Given the description of an element on the screen output the (x, y) to click on. 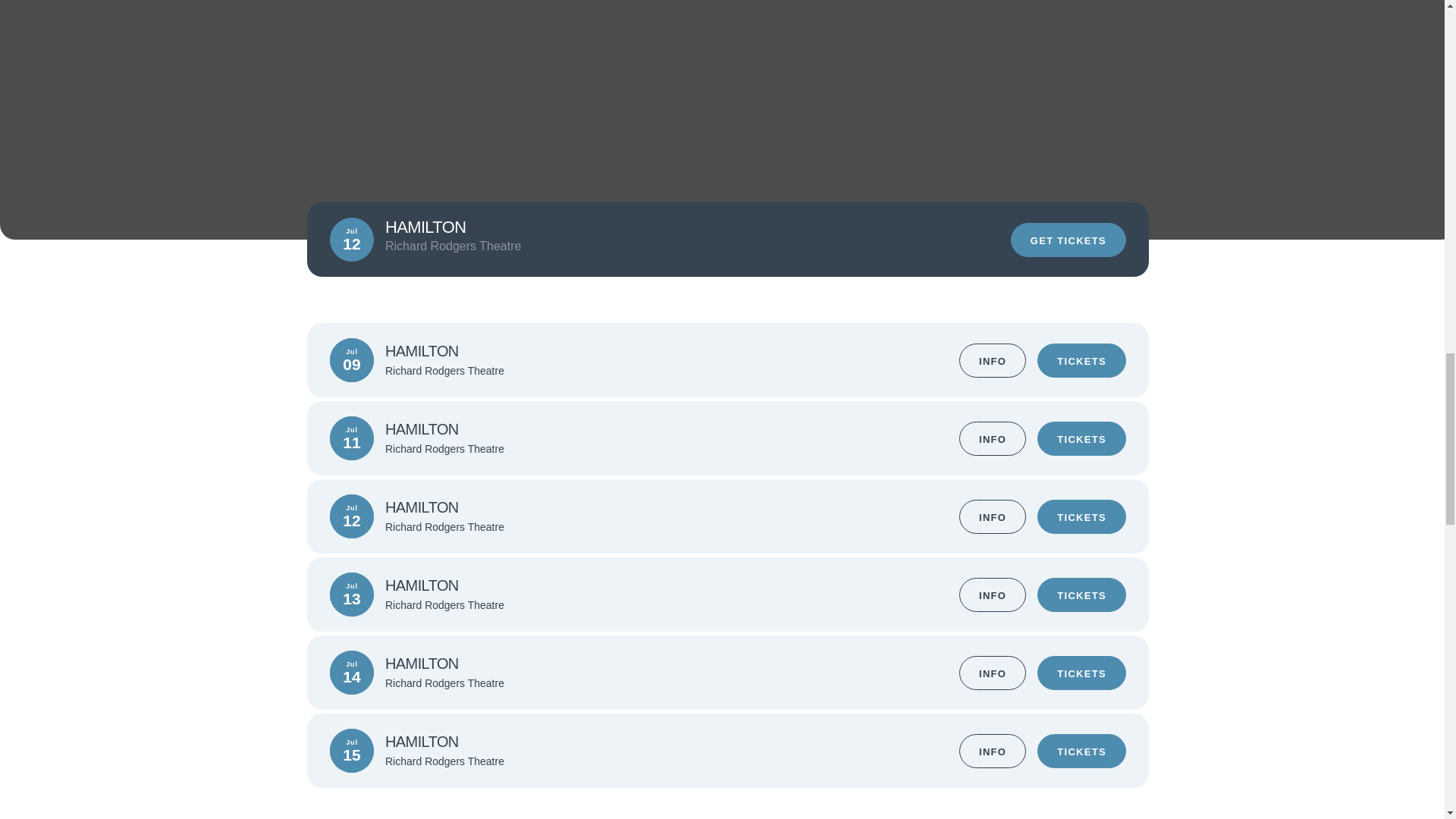
INFO (992, 515)
TICKETS (1080, 594)
INFO (992, 359)
INFO (992, 438)
TICKETS (1080, 359)
TICKETS (1080, 750)
INFO (992, 594)
GET TICKETS (1067, 239)
TICKETS (1080, 438)
TICKETS (1080, 672)
